Given the description of an element on the screen output the (x, y) to click on. 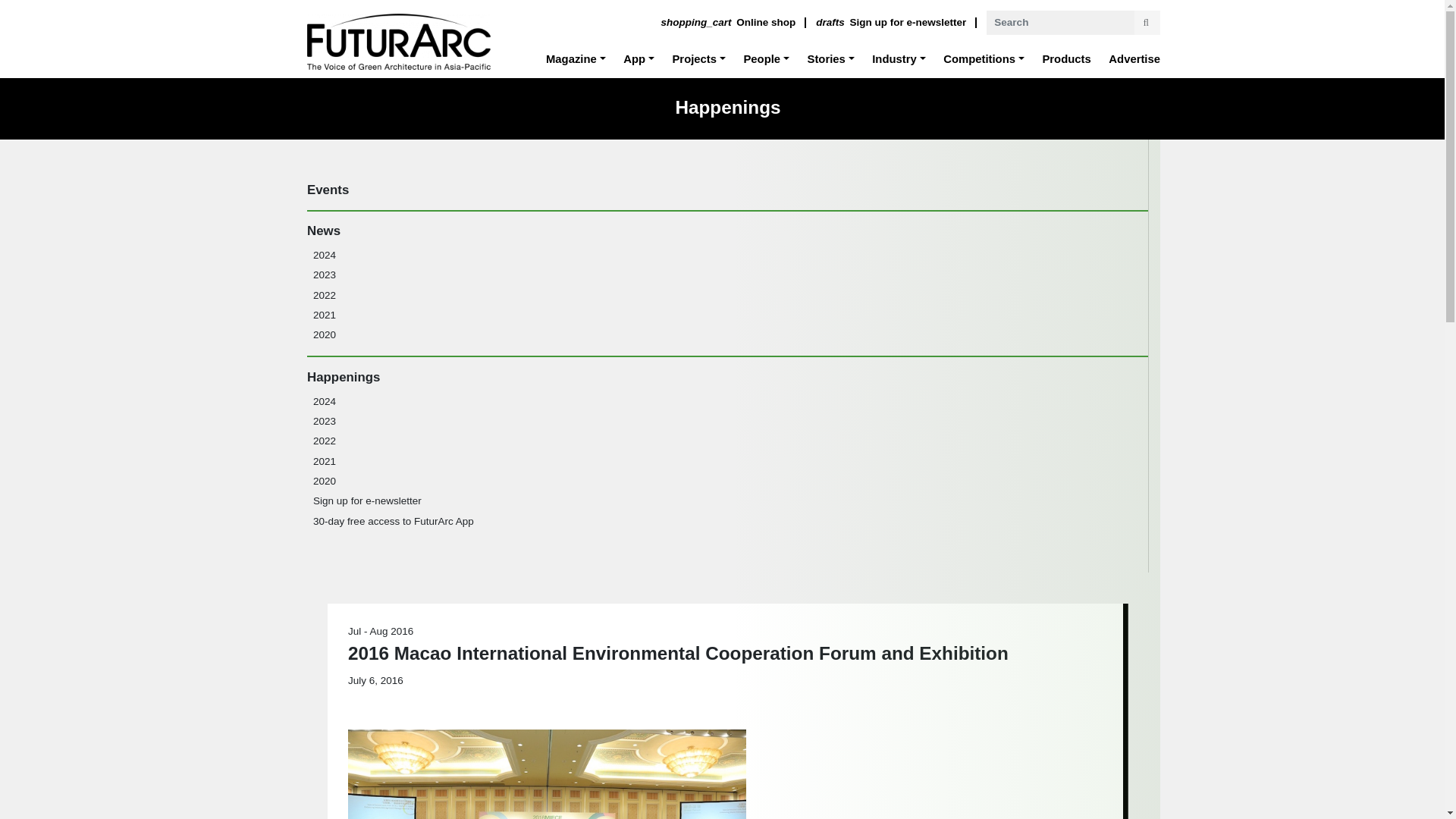
App (638, 58)
Projects (698, 58)
Magazine (890, 22)
Competitions (575, 58)
drafts Sign up for e-newsletter (984, 58)
Products (890, 22)
Projects (1066, 58)
Magazine (698, 58)
